Given the description of an element on the screen output the (x, y) to click on. 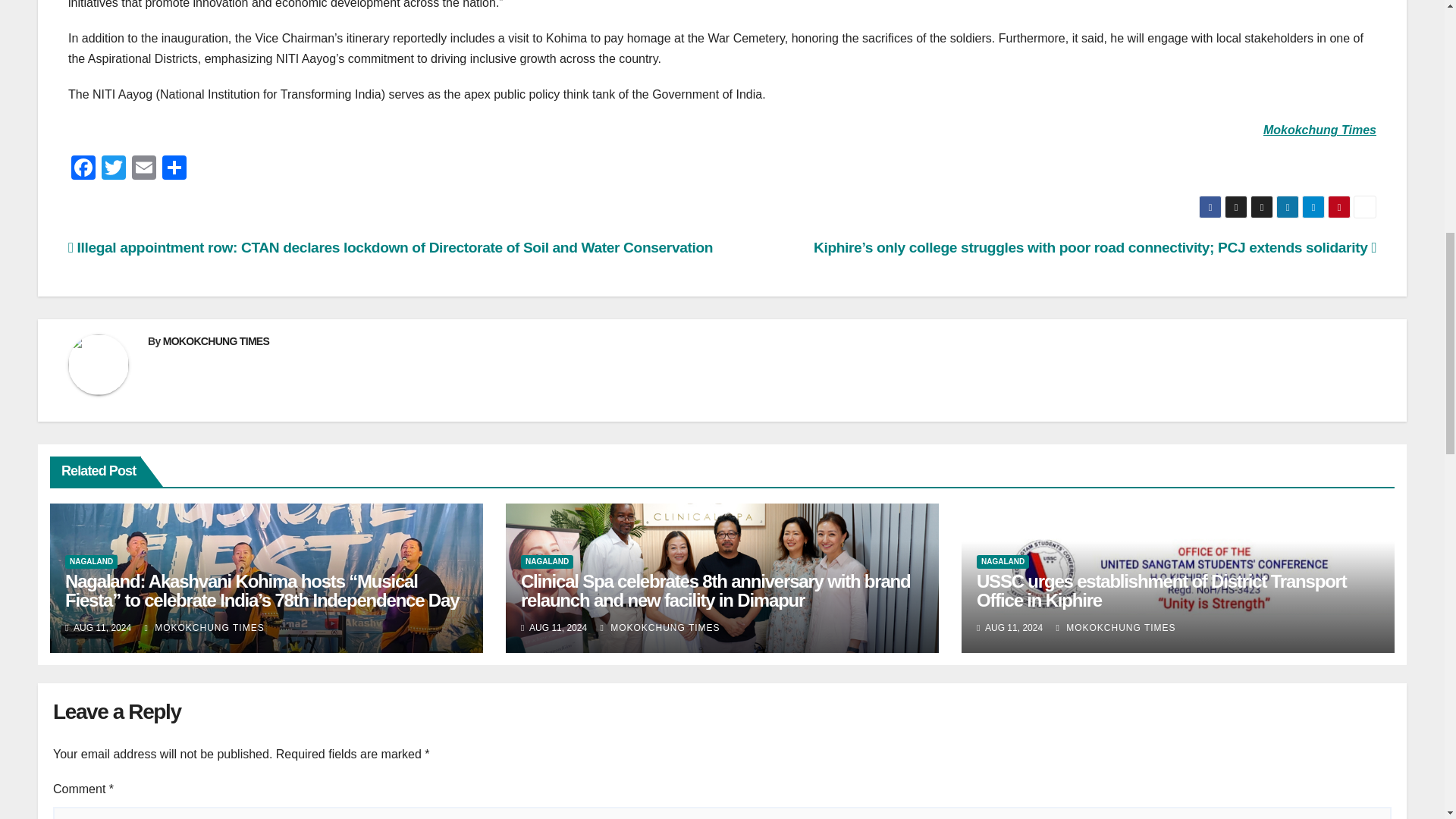
Facebook (83, 169)
Facebook (83, 169)
Twitter (114, 169)
Mokokchung Times (1319, 129)
